Given the description of an element on the screen output the (x, y) to click on. 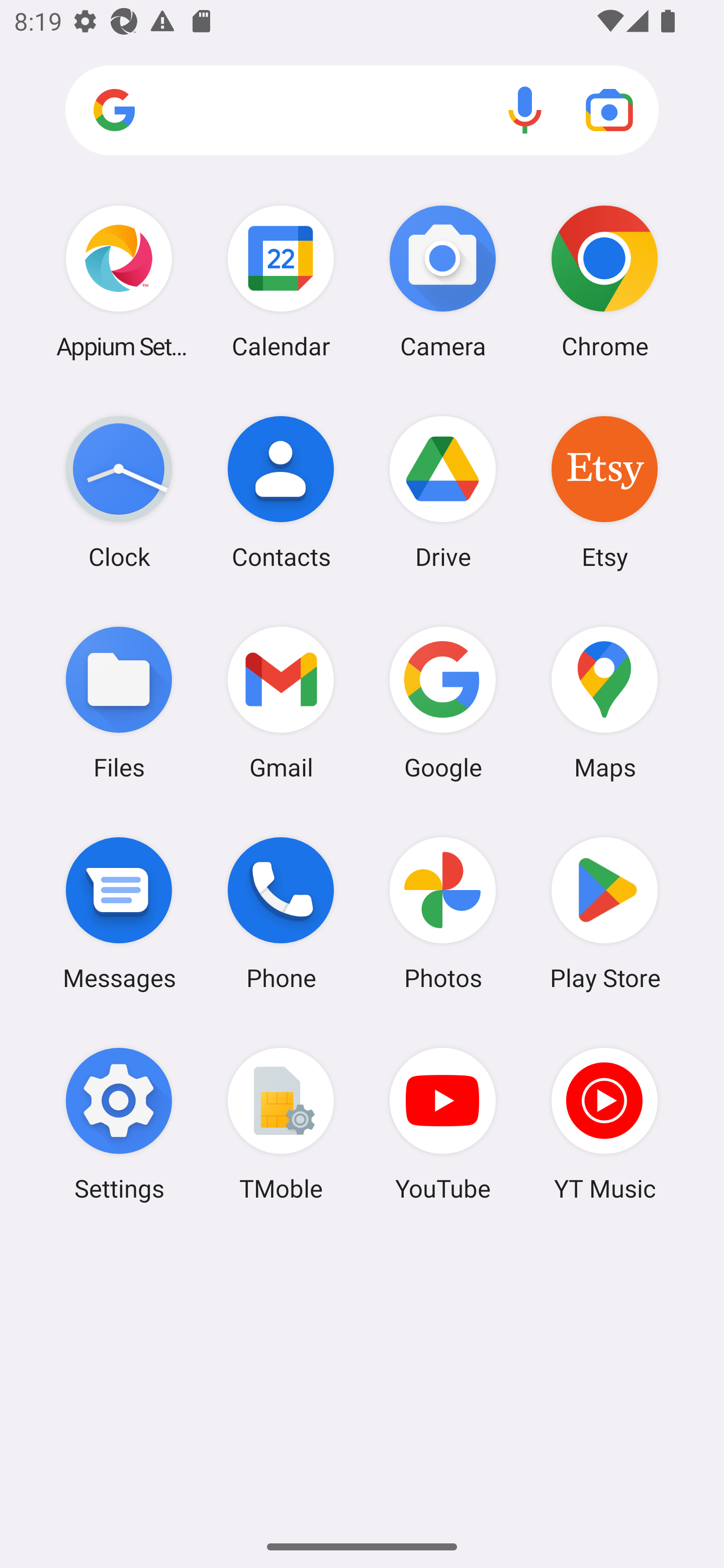
Search apps, web and more (361, 110)
Voice search (524, 109)
Google Lens (608, 109)
Appium Settings (118, 281)
Calendar (280, 281)
Camera (443, 281)
Chrome (604, 281)
Clock (118, 492)
Contacts (280, 492)
Drive (443, 492)
Etsy (604, 492)
Files (118, 702)
Gmail (280, 702)
Google (443, 702)
Maps (604, 702)
Messages (118, 913)
Phone (280, 913)
Photos (443, 913)
Play Store (604, 913)
Settings (118, 1124)
TMoble (280, 1124)
YouTube (443, 1124)
YT Music (604, 1124)
